Given the description of an element on the screen output the (x, y) to click on. 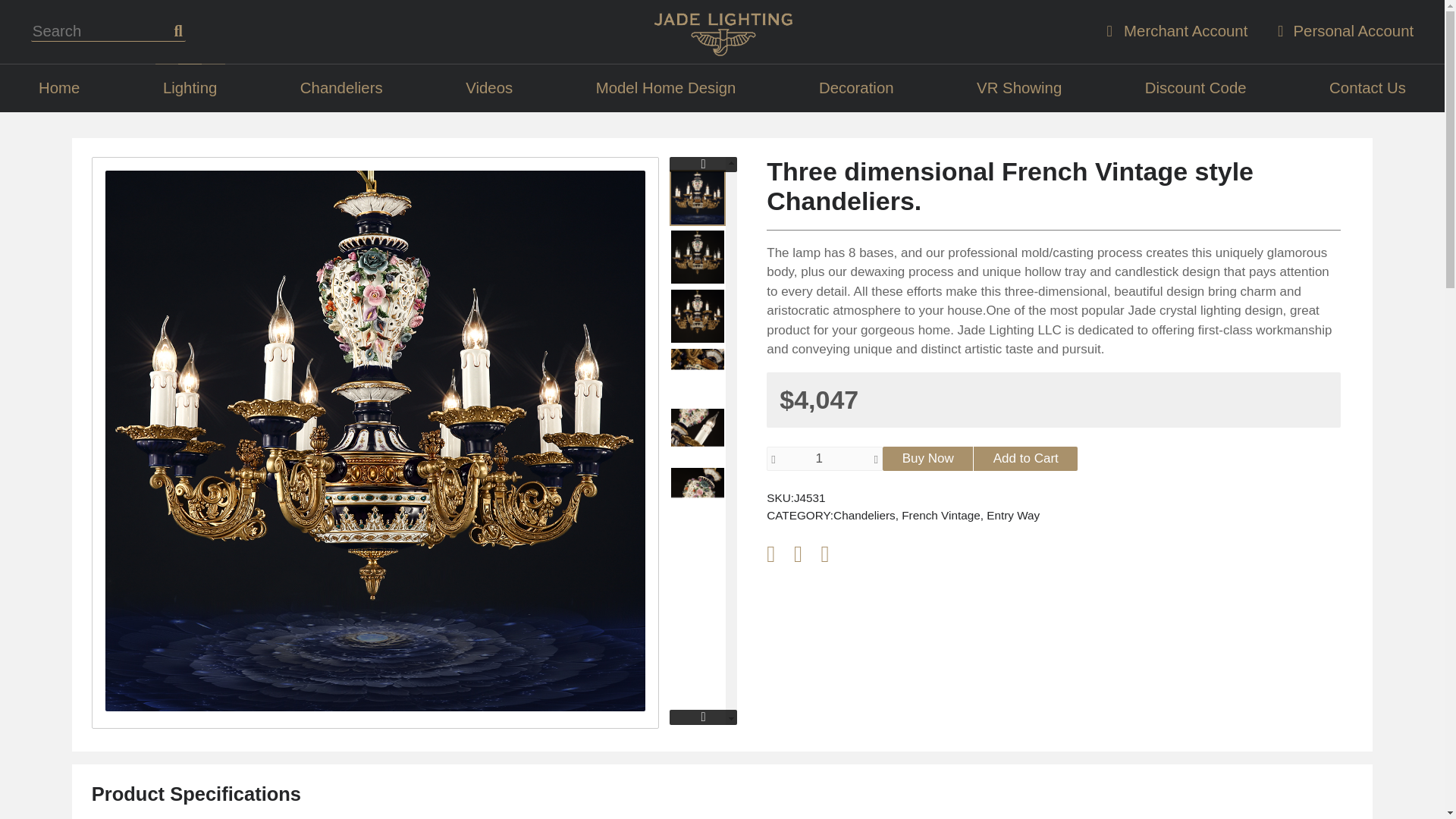
Add to Cart (1024, 458)
Contact Us (1367, 87)
VR Showing (1018, 87)
1 (824, 458)
Model Home Design (665, 87)
Videos (488, 87)
Home (59, 87)
Buy Now (927, 458)
